Given the description of an element on the screen output the (x, y) to click on. 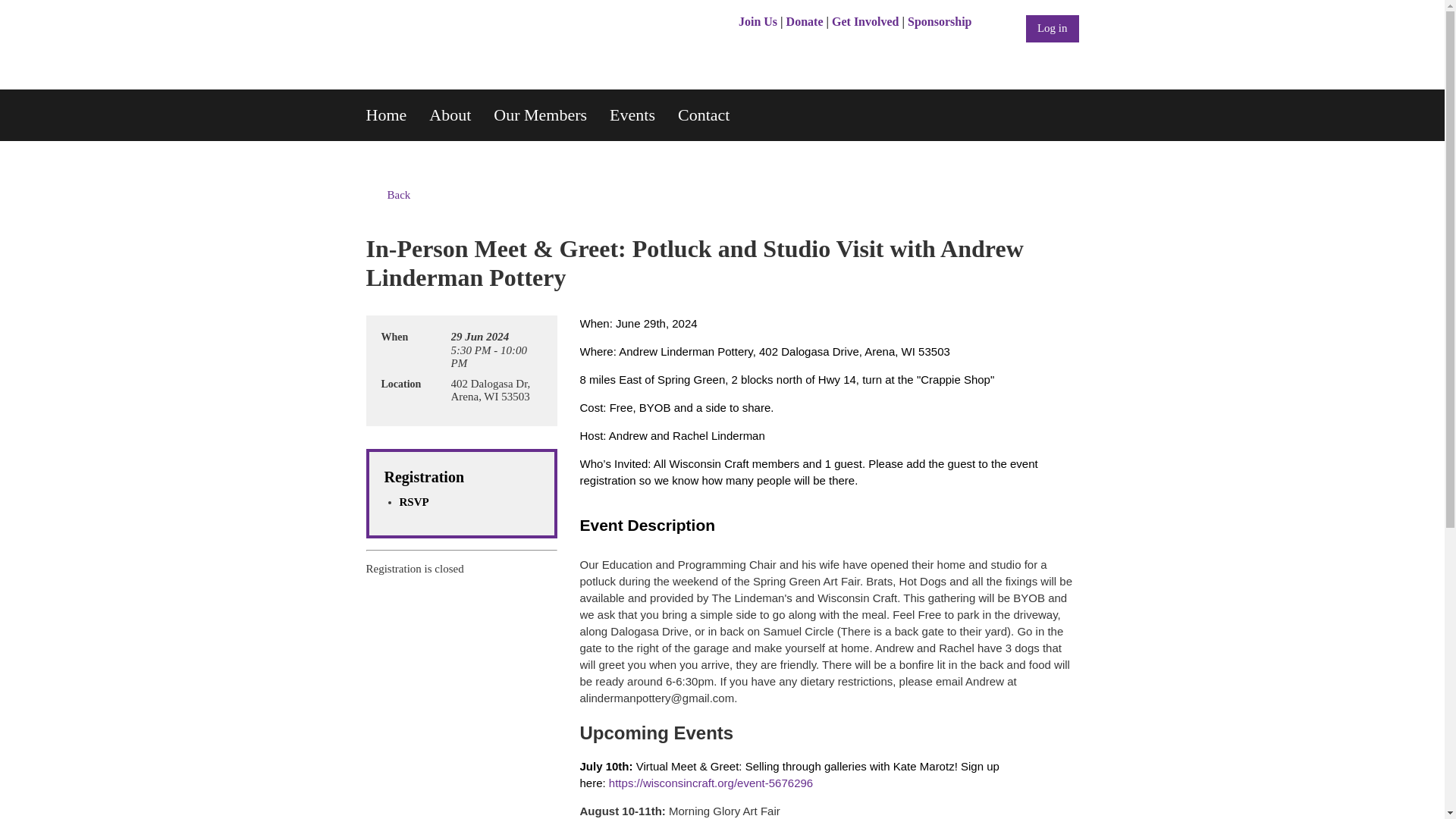
Log in (1052, 28)
Our Members (551, 114)
Get Involved (864, 21)
Back (387, 194)
Events (644, 114)
Sponsorship (939, 21)
About (461, 114)
About (461, 114)
Contact (715, 114)
Join Us (757, 21)
